Given the description of an element on the screen output the (x, y) to click on. 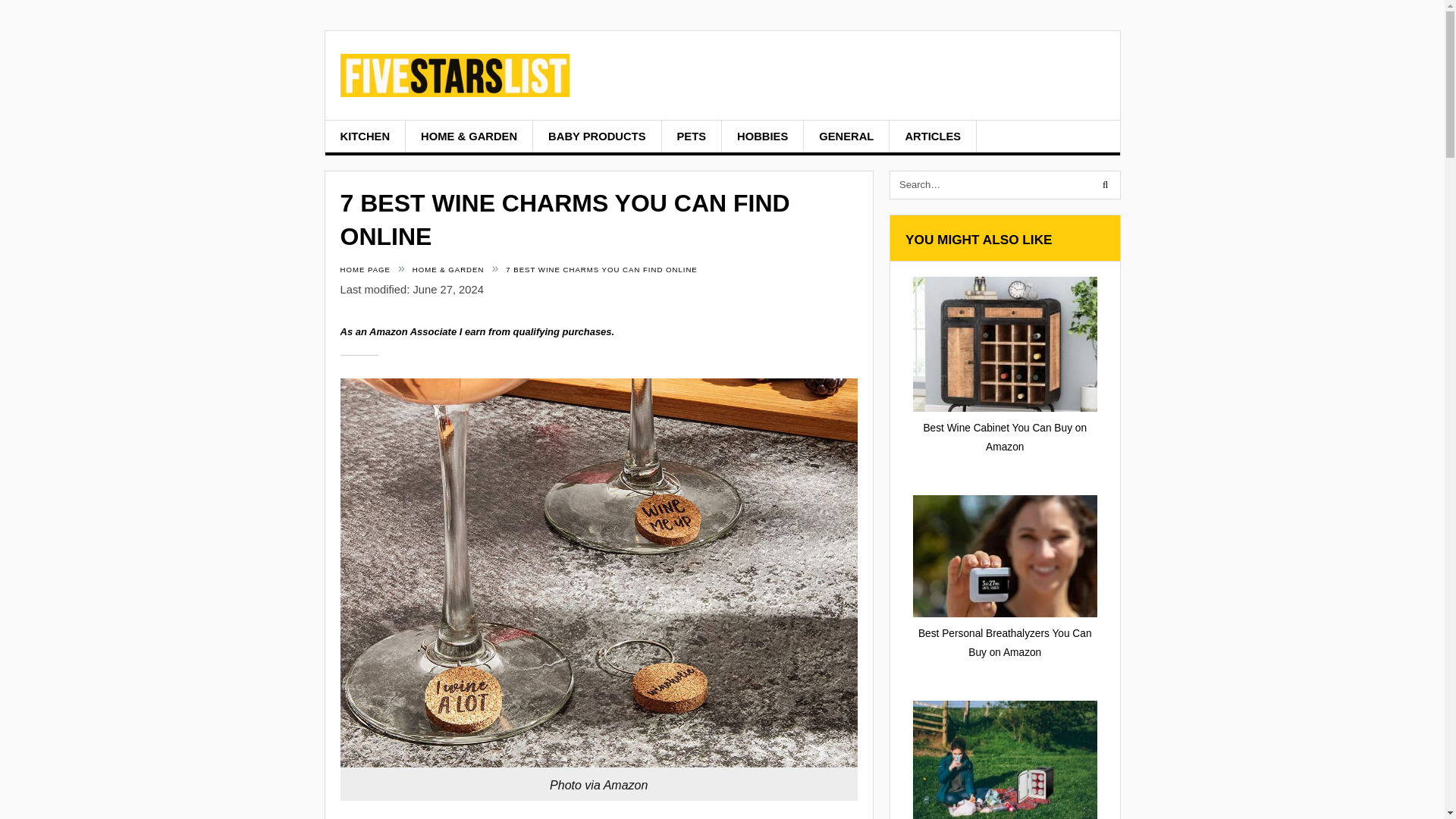
BABY PRODUCTS (596, 136)
GENERAL (846, 136)
Five Stars List (454, 84)
ARTICLES (932, 136)
HOBBIES (762, 136)
KITCHEN (365, 136)
HOME PAGE (364, 269)
PETS (691, 136)
7 BEST WINE CHARMS YOU CAN FIND ONLINE (601, 269)
